Given the description of an element on the screen output the (x, y) to click on. 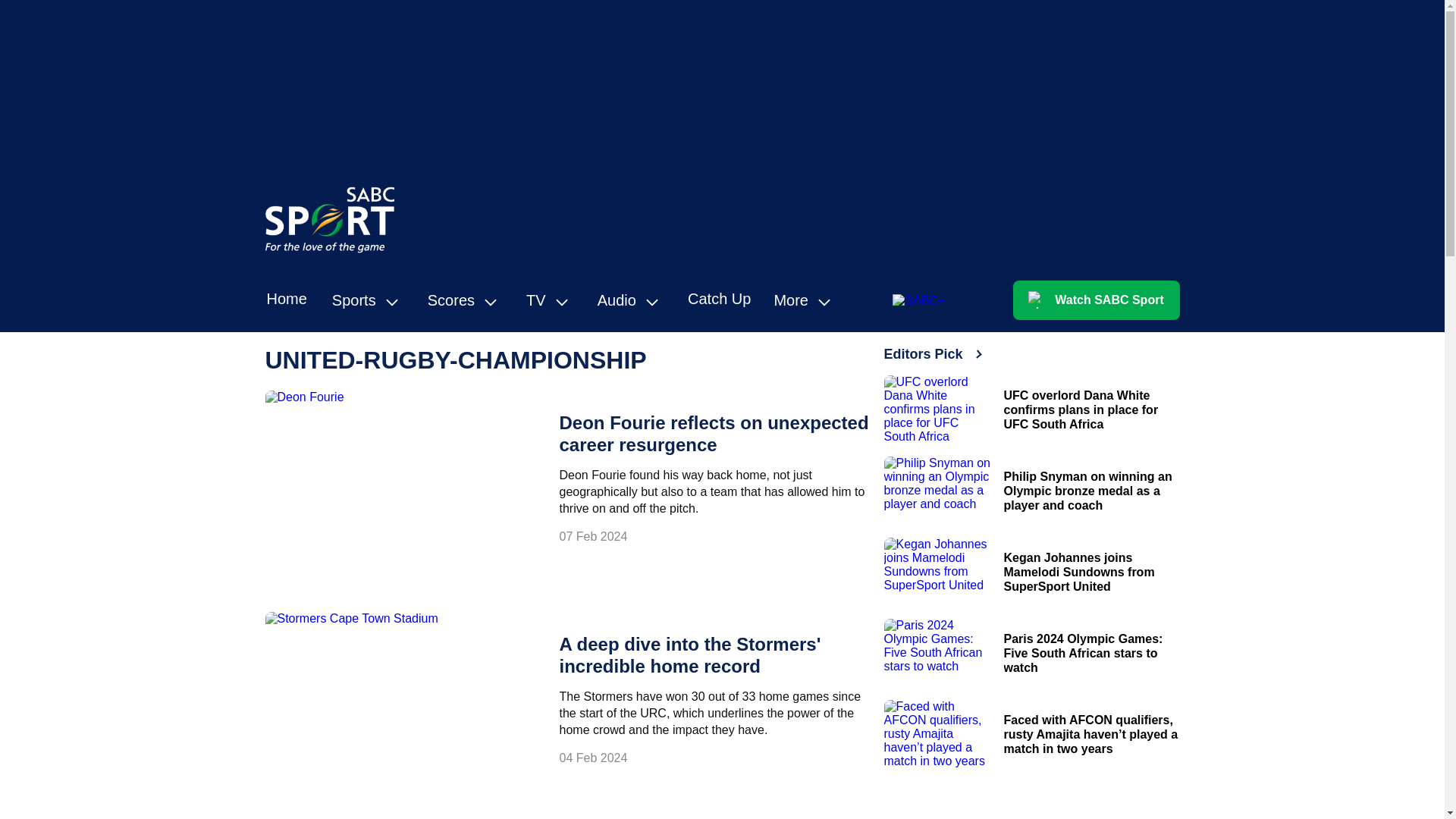
Sports (368, 299)
Home (286, 298)
Watch SABC Sport (1096, 300)
Deon Fourie reflects on unexpected career resurgence (714, 433)
Catch Up (719, 298)
A deep dive into the Stormers' incredible home record (690, 654)
More (804, 299)
Audio (631, 299)
Scores (465, 299)
TV (550, 299)
